Given the description of an element on the screen output the (x, y) to click on. 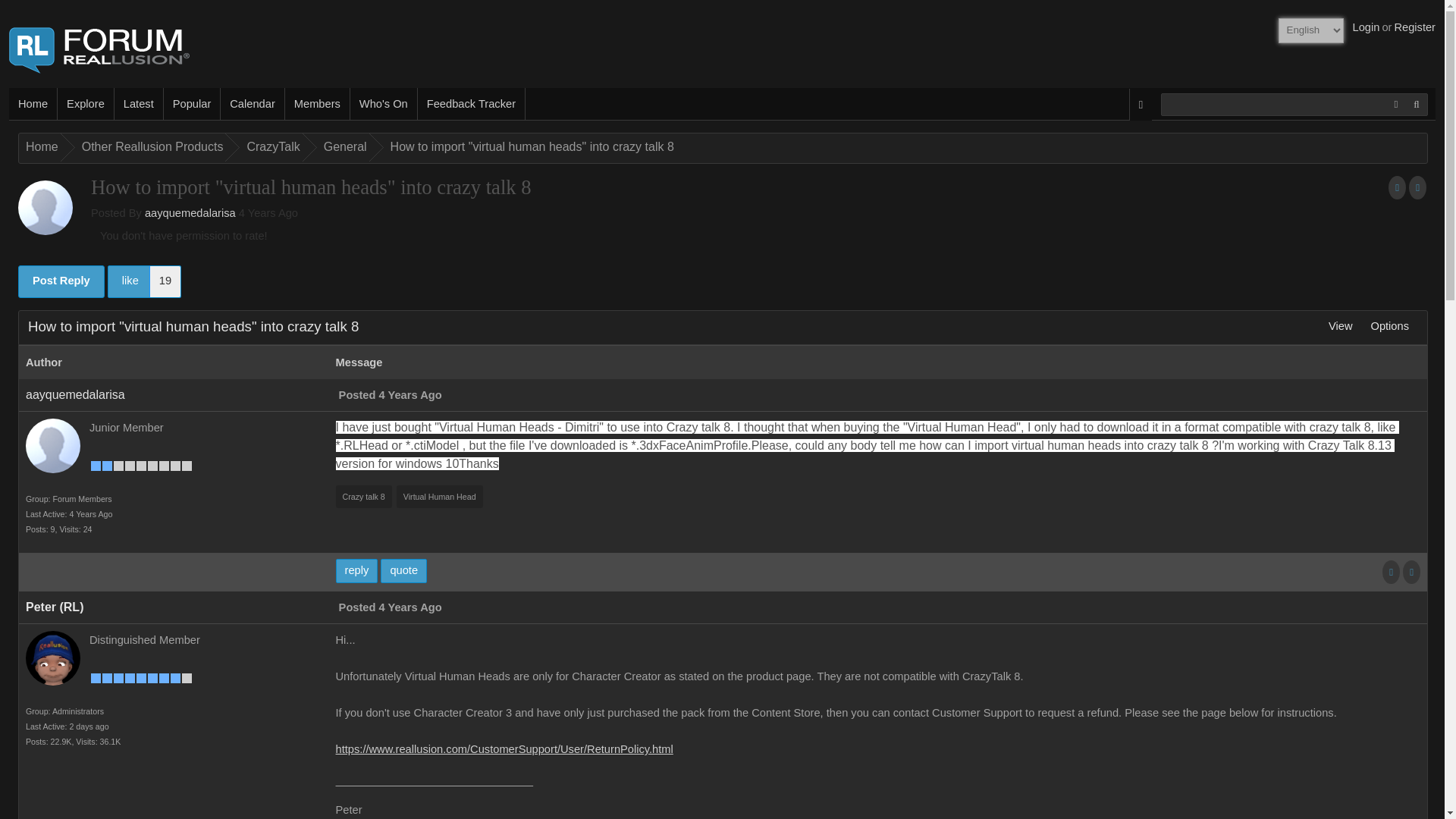
Home (39, 146)
aayquemedalarisa (189, 213)
Who's On (383, 103)
Click to view CrazyTalk (270, 146)
Popular (192, 103)
Login (1366, 27)
Home (33, 103)
Feedback Tracker (471, 103)
Register (143, 281)
